Given the description of an element on the screen output the (x, y) to click on. 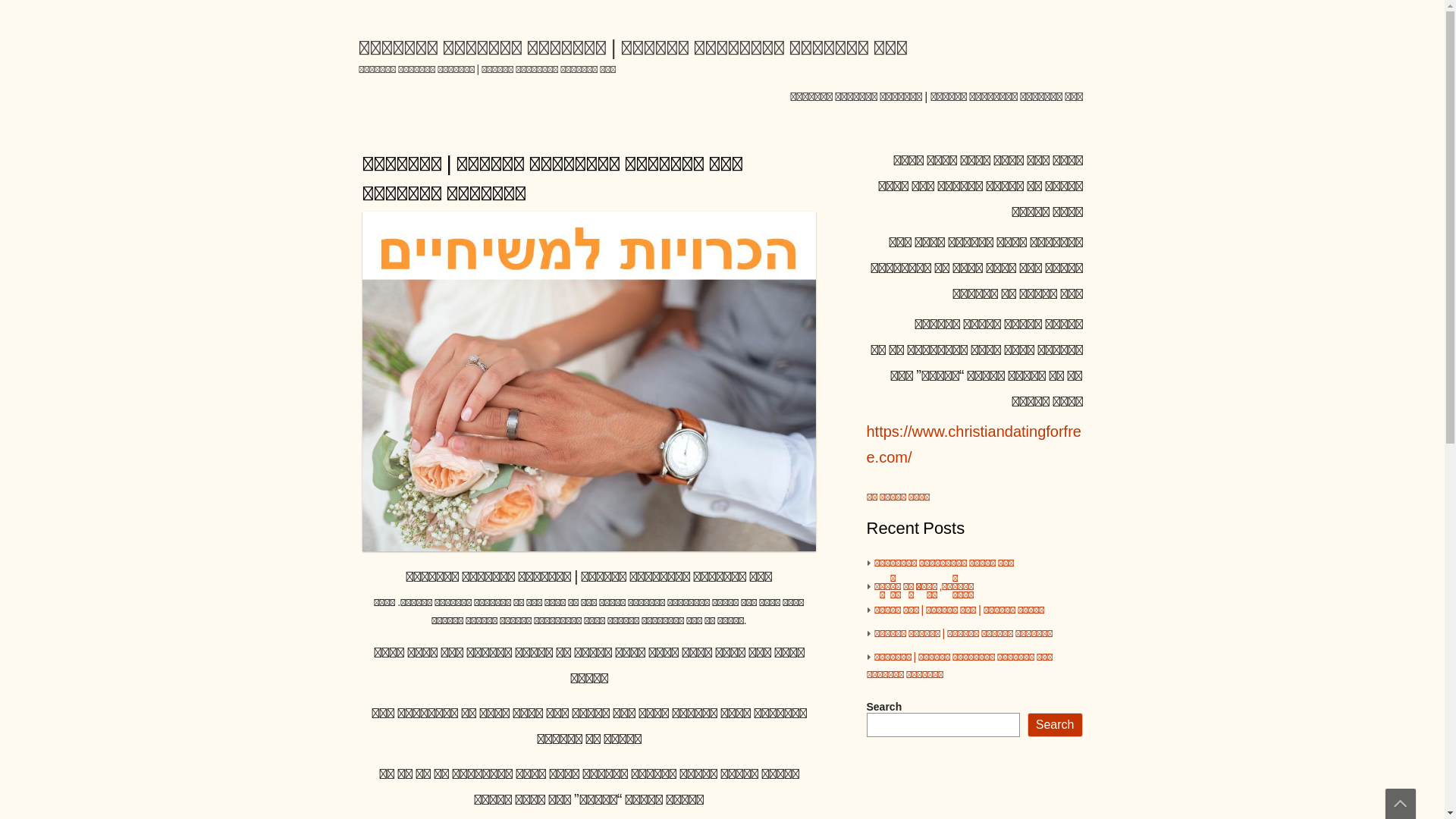
Search Element type: text (1054, 724)
https://www.christiandatingforfree.com/ Element type: text (973, 444)
